Given the description of an element on the screen output the (x, y) to click on. 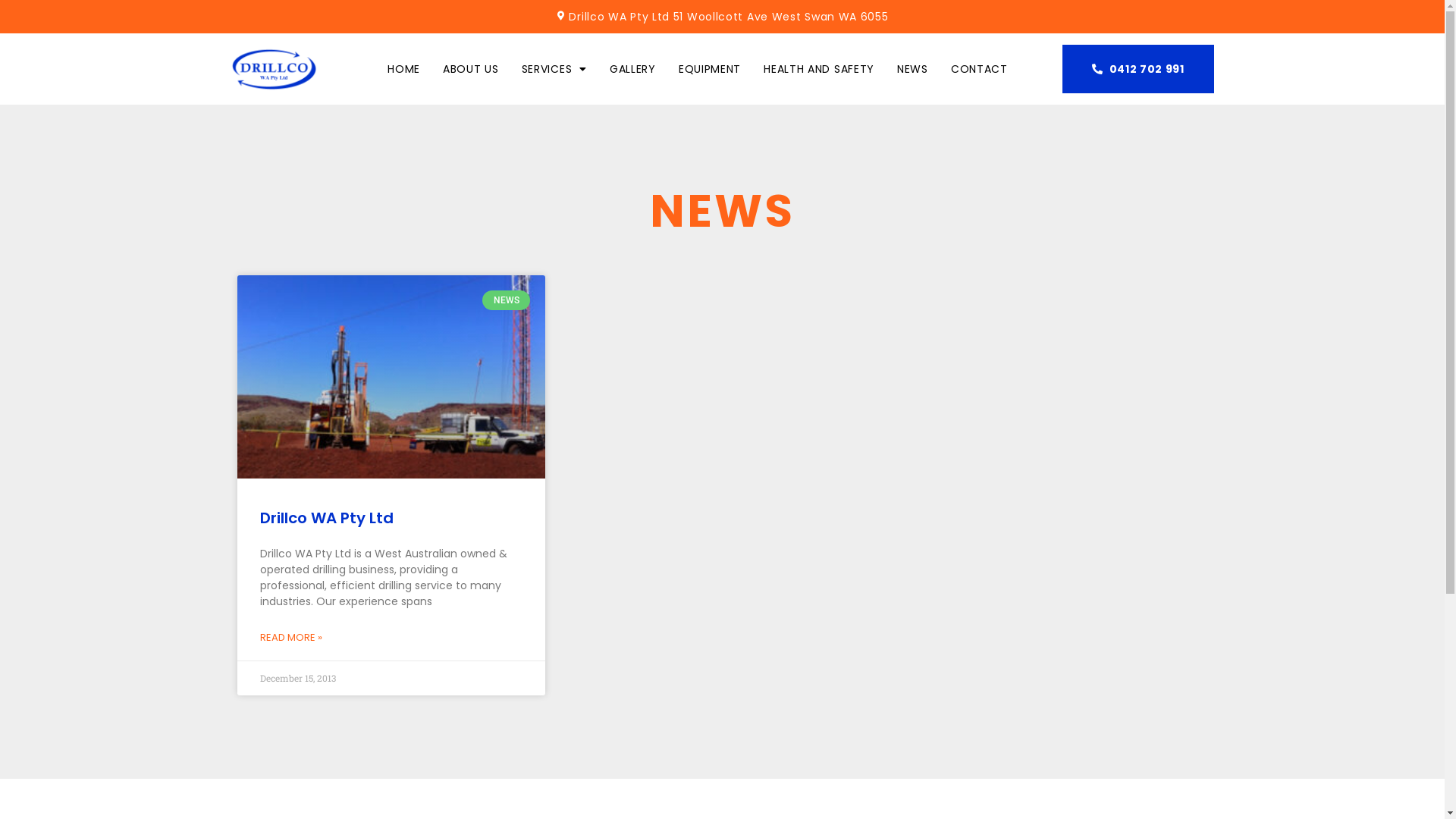
HOME Element type: text (403, 68)
CONTACT Element type: text (978, 68)
GALLERY Element type: text (632, 68)
SERVICES Element type: text (553, 68)
ABOUT US Element type: text (470, 68)
NEWS Element type: text (912, 68)
Drillco WA Pty Ltd Element type: text (325, 517)
HEALTH AND SAFETY Element type: text (818, 68)
0412 702 991 Element type: text (1138, 68)
EQUIPMENT Element type: text (709, 68)
